Given the description of an element on the screen output the (x, y) to click on. 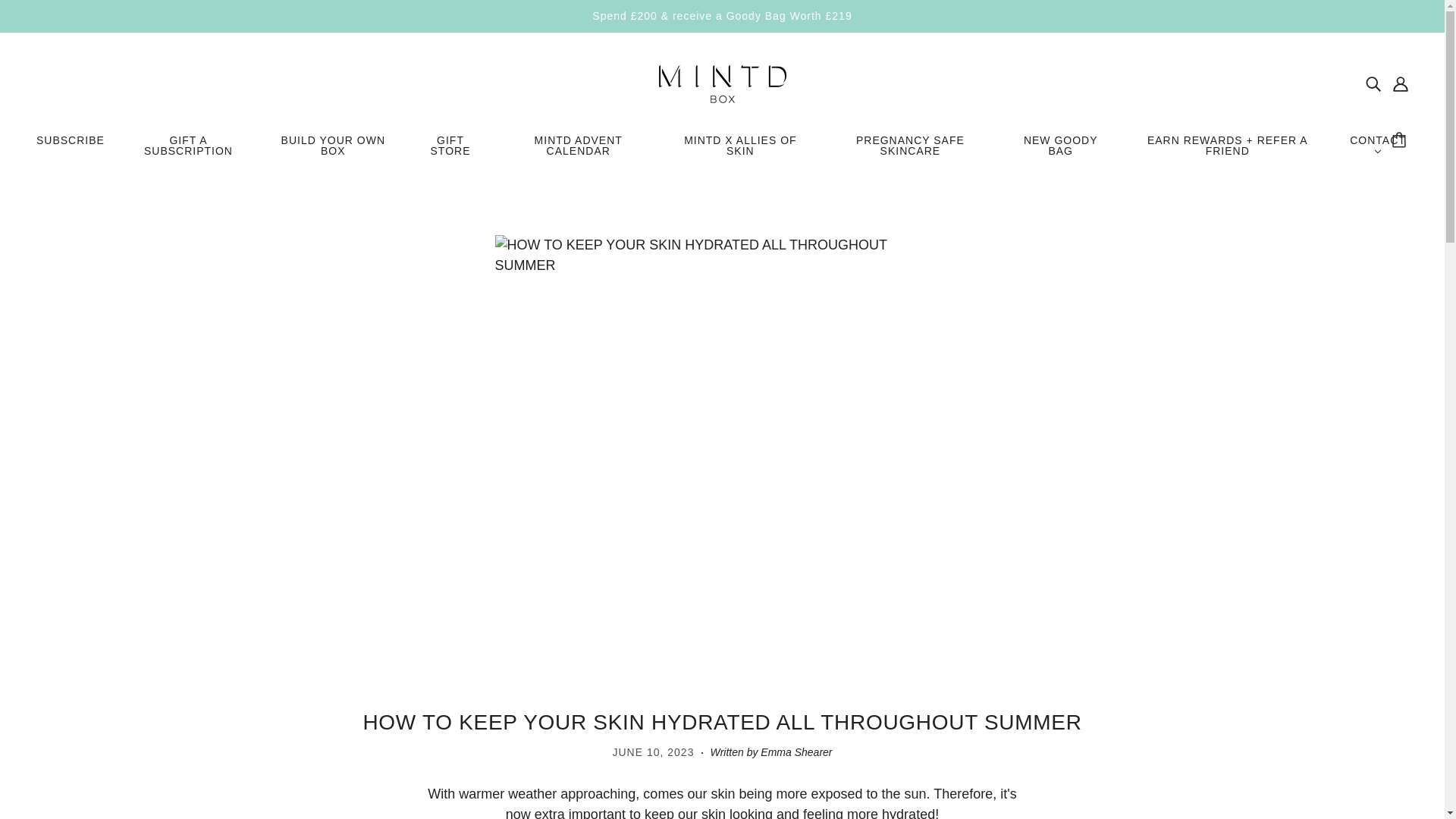
CONTACT (1378, 151)
SUBSCRIBE (70, 145)
MINTD Box (721, 82)
GIFT STORE (450, 151)
MINTD ADVENT CALENDAR (578, 151)
BUILD YOUR OWN BOX (333, 151)
PREGNANCY SAFE SKINCARE (909, 151)
MINTD X ALLIES OF SKIN (740, 151)
NEW GOODY BAG (1060, 151)
GIFT A SUBSCRIPTION (188, 151)
